Given the description of an element on the screen output the (x, y) to click on. 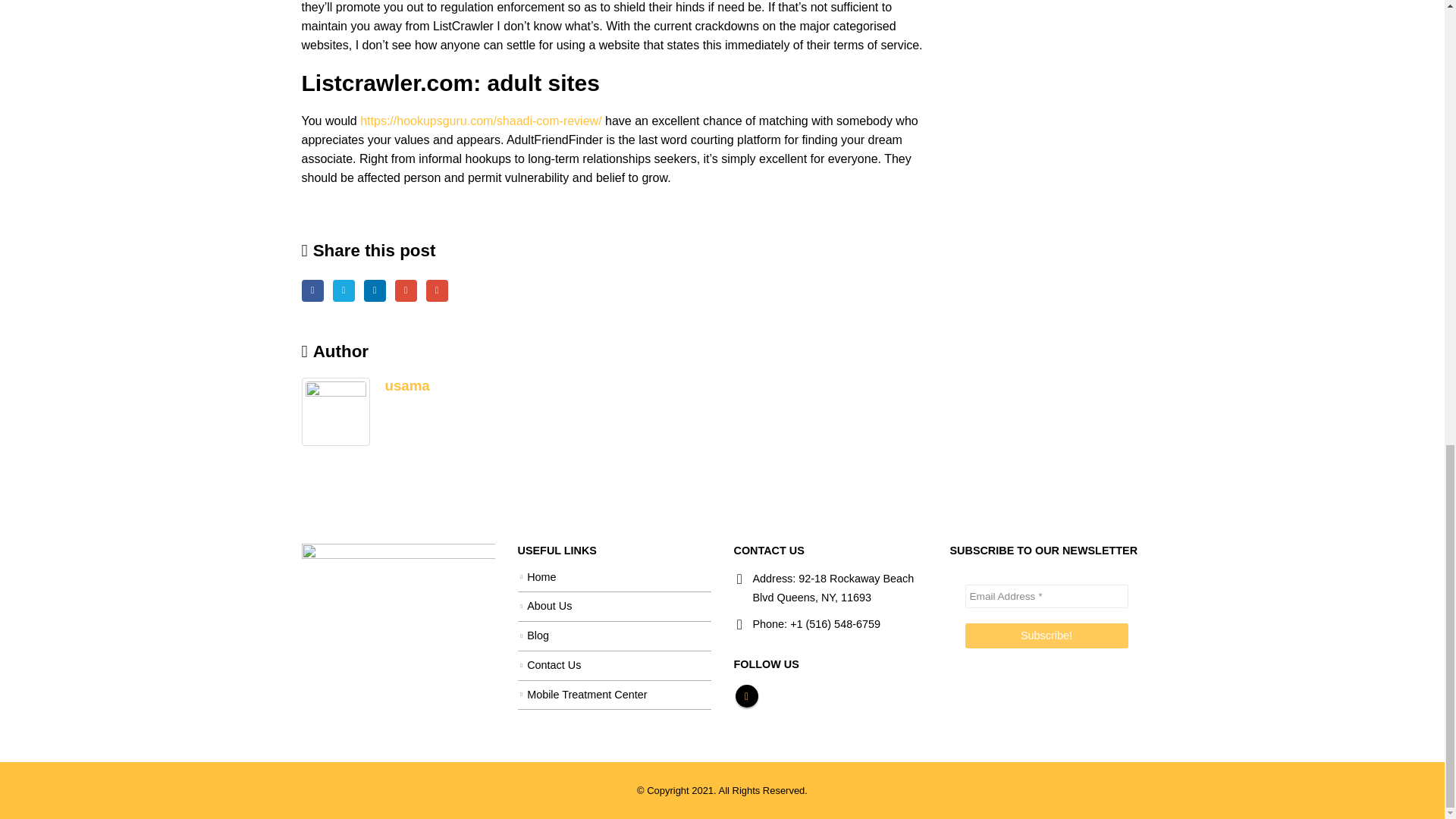
Mobile Treatment Center (586, 694)
About Us (549, 605)
Email (437, 291)
Twitter (344, 291)
Facebook (312, 291)
LinkedIn (374, 291)
Posts by usama (407, 385)
Blog (537, 635)
Instagram (746, 695)
Subscribe! (1044, 635)
